Given the description of an element on the screen output the (x, y) to click on. 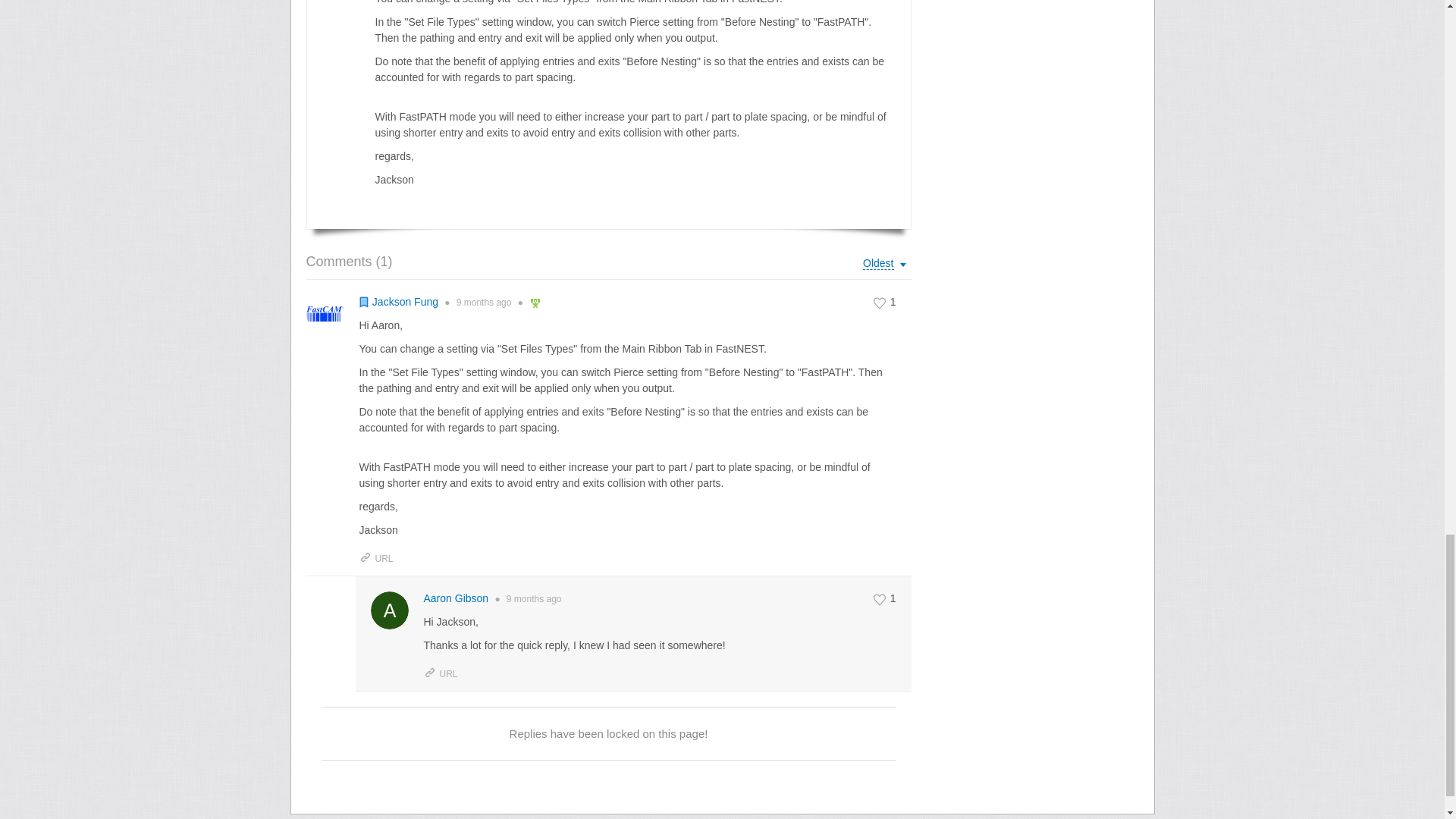
Aaron Gibson (455, 598)
1 (885, 302)
1 (885, 598)
URL (376, 558)
URL (440, 674)
Jackson Fung (405, 301)
